Given the description of an element on the screen output the (x, y) to click on. 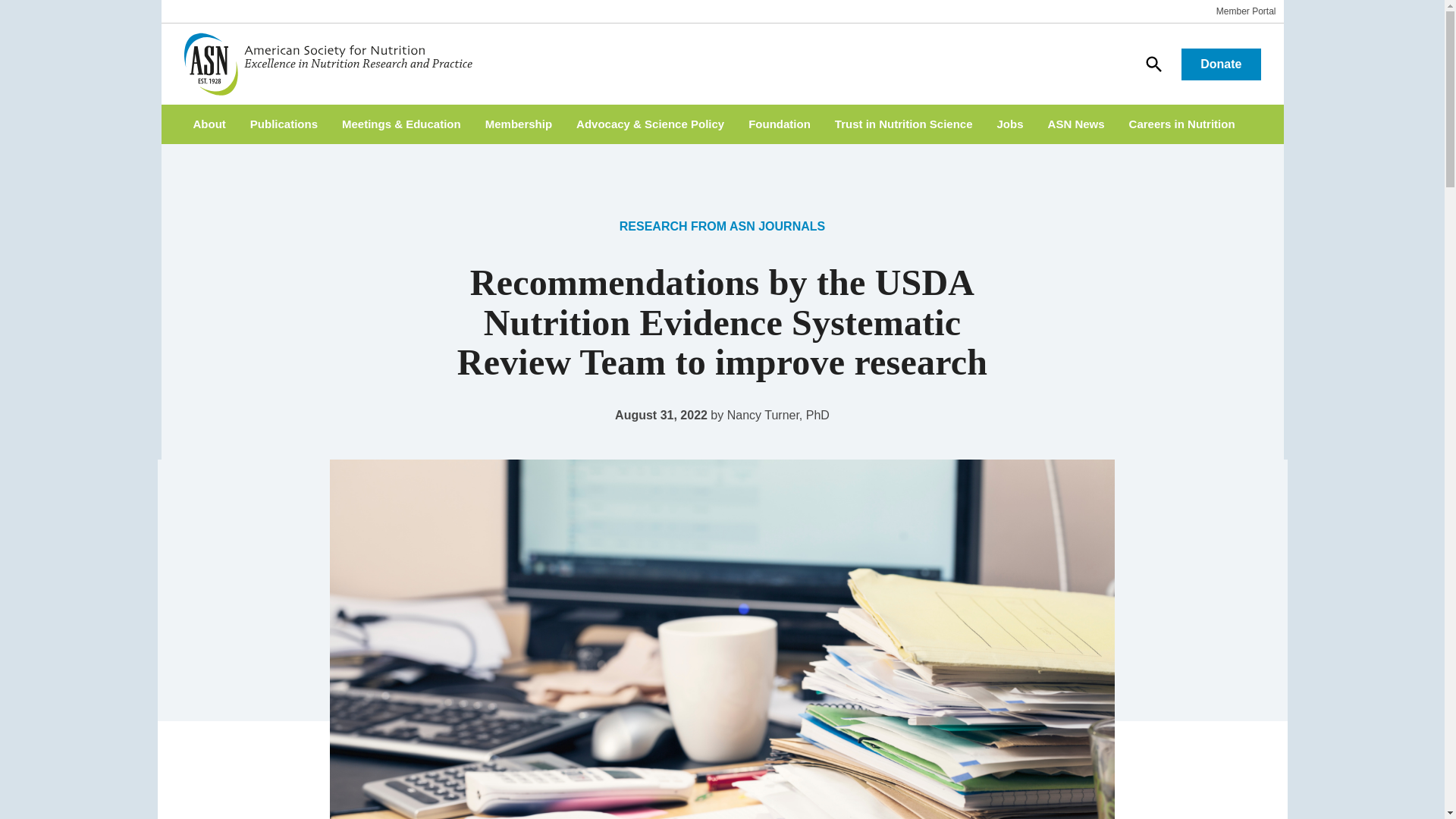
Search (1153, 63)
Member Portal (1246, 10)
Donate (1220, 64)
Publications (283, 124)
About (208, 124)
Membership (518, 124)
American Society for Nutrition (334, 63)
